Given the description of an element on the screen output the (x, y) to click on. 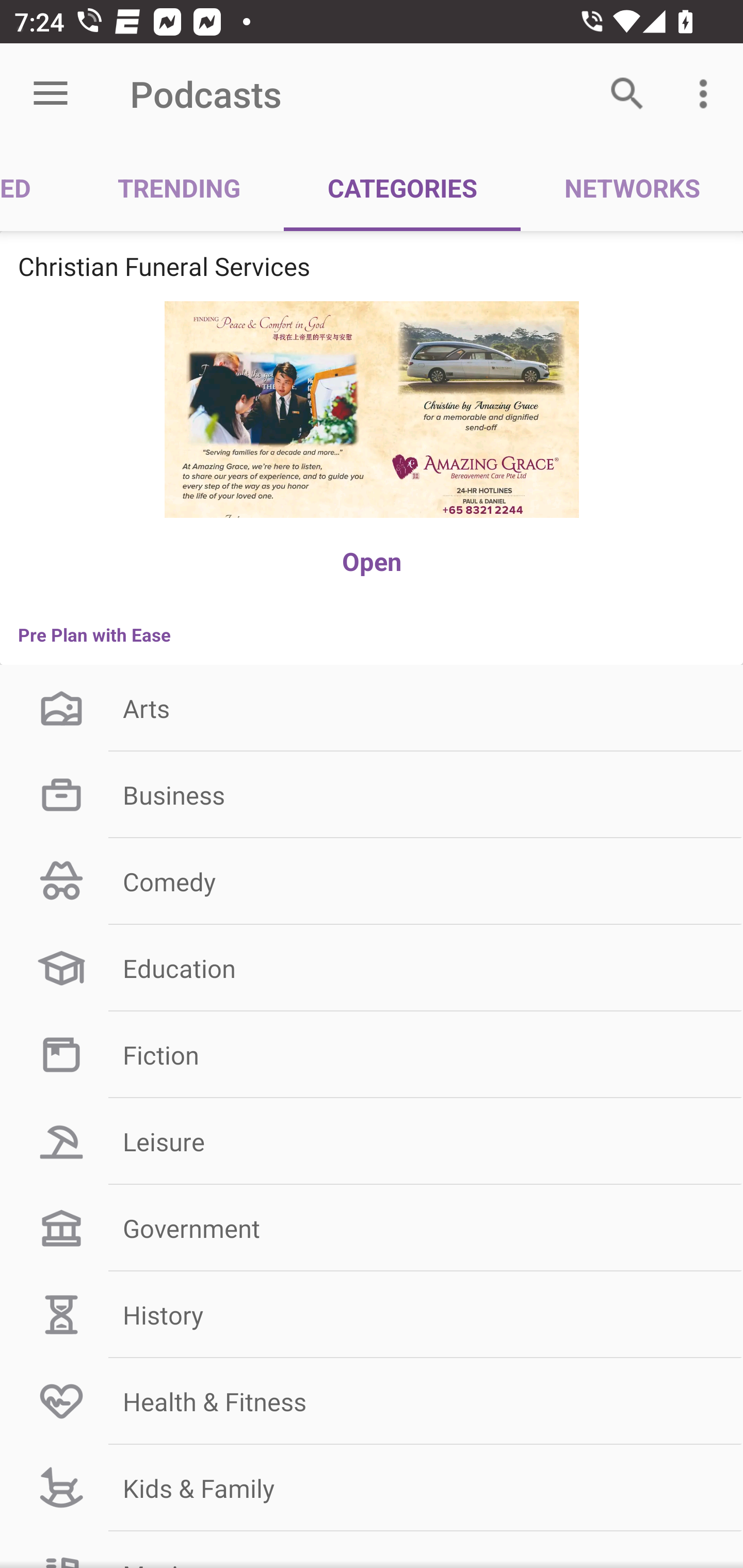
Open menu (50, 93)
Search (626, 93)
More options (706, 93)
TRENDING (178, 187)
CATEGORIES (401, 187)
NETWORKS (631, 187)
Christian Funeral Services (371, 266)
Open (371, 561)
Pre Plan with Ease (371, 634)
Arts (371, 707)
Business (371, 794)
Comedy (371, 881)
Education (371, 968)
Fiction (371, 1054)
Leisure (371, 1141)
Government (371, 1228)
History (371, 1314)
Health & Fitness (371, 1400)
Kids & Family (371, 1487)
